Given the description of an element on the screen output the (x, y) to click on. 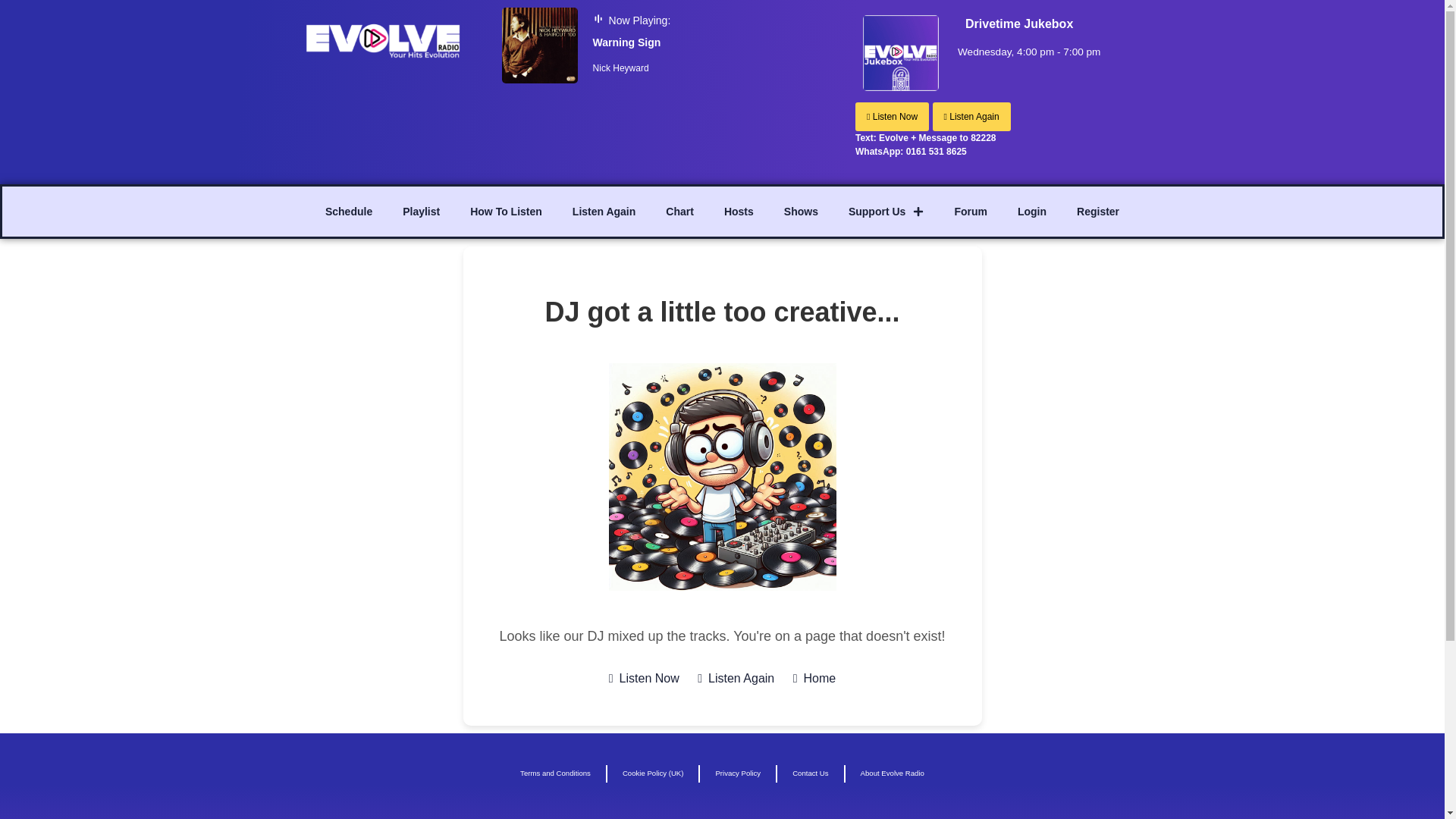
Drivetime Jukebox (1019, 24)
Listen Again (735, 678)
Listen Again (603, 211)
Listen Now (892, 116)
Hosts (738, 211)
Schedule (348, 211)
Listen Now (643, 678)
Terms and Conditions (555, 773)
Shows (800, 211)
Privacy Policy (738, 773)
